Given the description of an element on the screen output the (x, y) to click on. 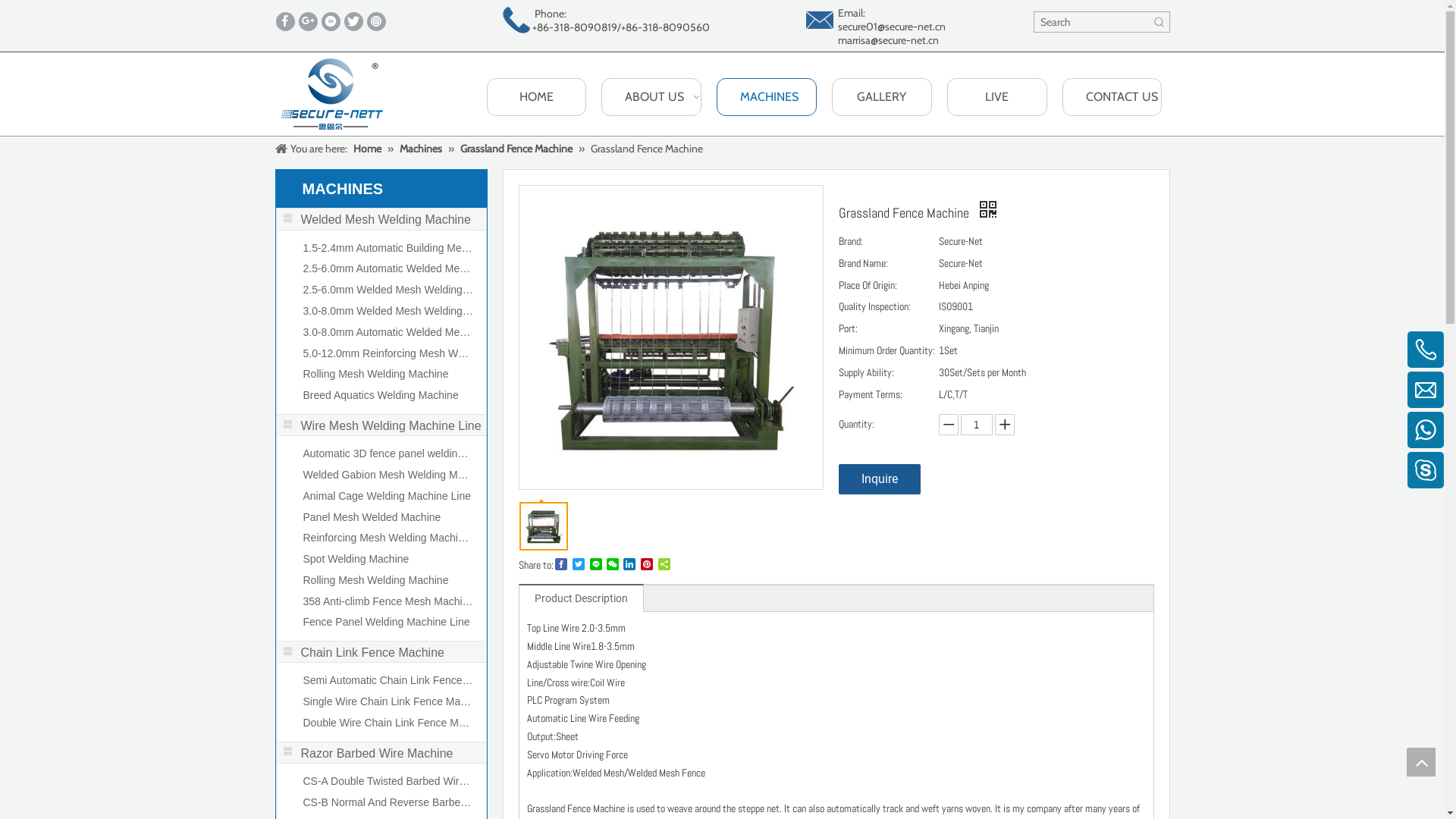
Home Element type: text (368, 148)
5.0-12.0mm Reinforcing Mesh Welding Machine Element type: text (388, 354)
email Element type: hover (818, 19)
1.5-2.4mm Automatic Building Mesh Welding Machine Element type: text (388, 248)
2.5-6.0mm Automatic Welded Mesh Fence Welding Machine Element type: text (388, 269)
Product Description Element type: text (580, 598)
Rolling Mesh Welding Machine Element type: text (388, 580)
Animal Cage Welding Machine Line Element type: text (388, 496)
GALLERY Element type: text (881, 97)
Wire Mesh Welding Machine Line Element type: text (380, 425)
+86-318-8090560 Element type: text (664, 27)
Google+ Element type: hover (307, 21)
Machines Element type: text (420, 148)
secure01@secure-net.cn Element type: text (890, 26)
Razor Barbed Wire Machine Element type: text (380, 752)
Spot Welding Machine Element type: text (388, 559)
ABOUT US   Element type: text (651, 97)
CS-B Normal And Reverse Barbed Wire Machine Element type: text (388, 802)
Rolling Mesh Welding Machine Element type: text (388, 374)
Single Wire Chain Link Fence Machine Element type: text (388, 702)
tel Element type: hover (515, 19)
HOME Element type: text (536, 97)
Semi Automatic Chain Link Fence Machine Element type: text (388, 680)
LIVE Element type: text (997, 97)
3.0-8.0mm Welded Mesh Welding Machine Element type: text (388, 311)
+86-318-8090819 Element type: text (574, 27)
Reinforcing Mesh Welding Machine Line Element type: text (388, 538)
Twitter Element type: hover (353, 21)
Inquire Element type: text (879, 479)
CS-A Double Twisted Barbed Wire Machine Element type: text (388, 781)
3.0-8.0mm Automatic Welded Mesh Welding Machine Element type: text (388, 332)
Fence Panel Welding Machine Line Element type: text (388, 622)
Panel Mesh Welded Machine Element type: text (388, 517)
Facebook Element type: hover (285, 21)
HEBEI-SECURE-NEXT-FENCE-FACILITY-CO.,-LTD. Element type: hover (331, 93)
Welded Gabion Mesh Welding Machine Line Element type: text (388, 475)
Linkedin Element type: hover (330, 21)
Automatic 3D fence panel welding machine Element type: text (388, 454)
Jeremy Element type: text (1377, 405)
Jeremy Element type: text (1377, 444)
358 Anti-climb Fence Mesh Machine Line Element type: text (388, 602)
MACHINES Element type: text (766, 97)
2.5-6.0mm Welded Mesh Welding Machine Element type: text (388, 290)
Grassland Fence Machine Element type: text (516, 148)
marrisa@secure-net.cn Element type: text (887, 40)
top Element type: text (1420, 761)
Chain Link Fence Machine Element type: text (380, 651)
Skype Element type: text (1379, 476)
Breed Aquatics Welding Machine Element type: text (388, 395)
Double Wire Chain Link Fence Machine Element type: text (388, 723)
Welded Mesh Welding Machine Element type: text (380, 218)
Instagram Element type: hover (376, 21)
Tel Element type: text (1386, 364)
CONTACT US Element type: text (1112, 97)
